Given the description of an element on the screen output the (x, y) to click on. 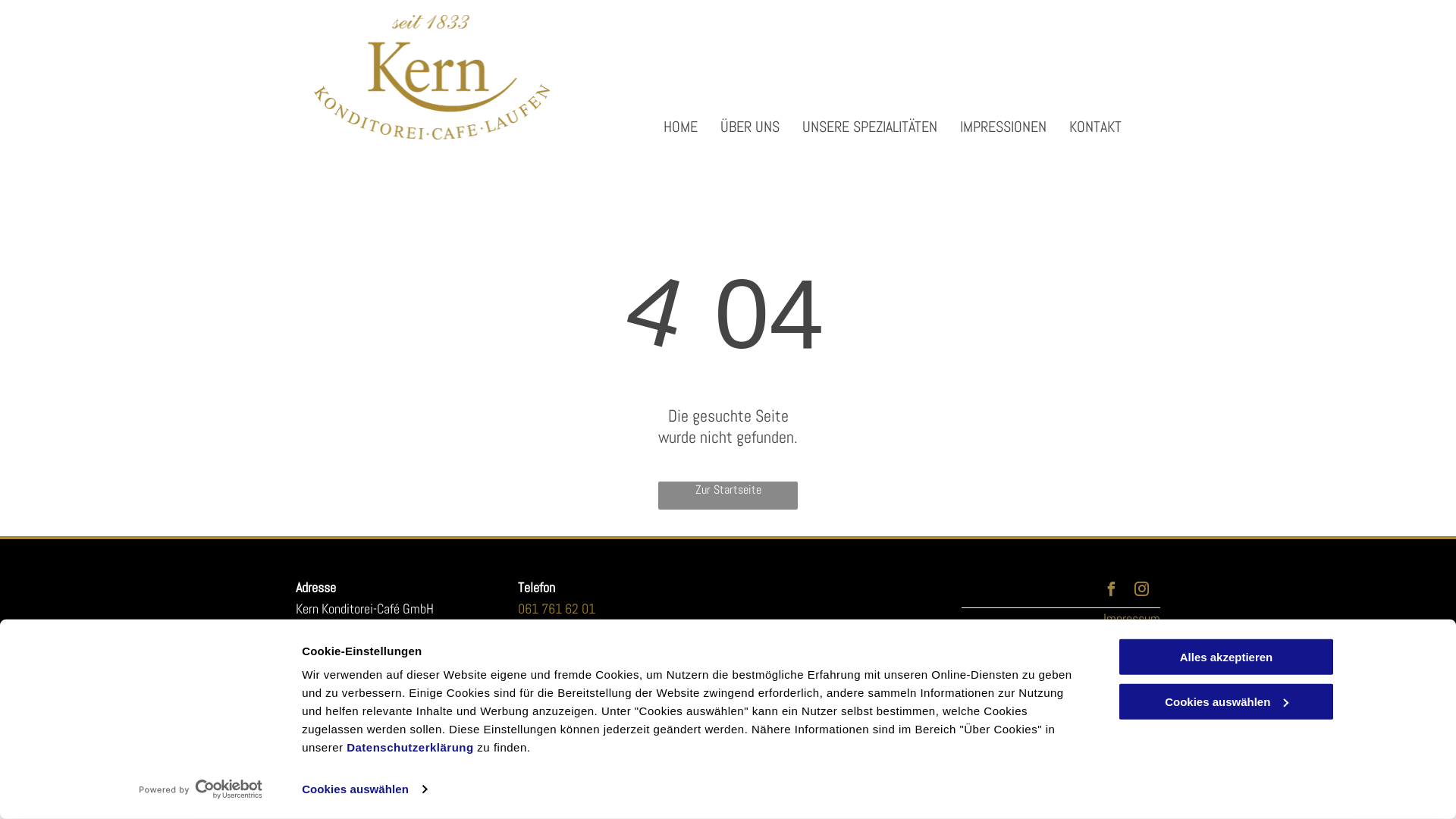
IMPRESSIONEN Element type: text (991, 126)
Impressum Element type: text (1131, 618)
Alles akzeptieren Element type: text (1225, 656)
HOME Element type: text (668, 126)
Zur Startseite Element type: text (727, 495)
061 761 62 01 Element type: text (555, 618)
KONTAKT Element type: text (1083, 126)
cafekern@bluewin.ch Element type: text (573, 662)
